Given the description of an element on the screen output the (x, y) to click on. 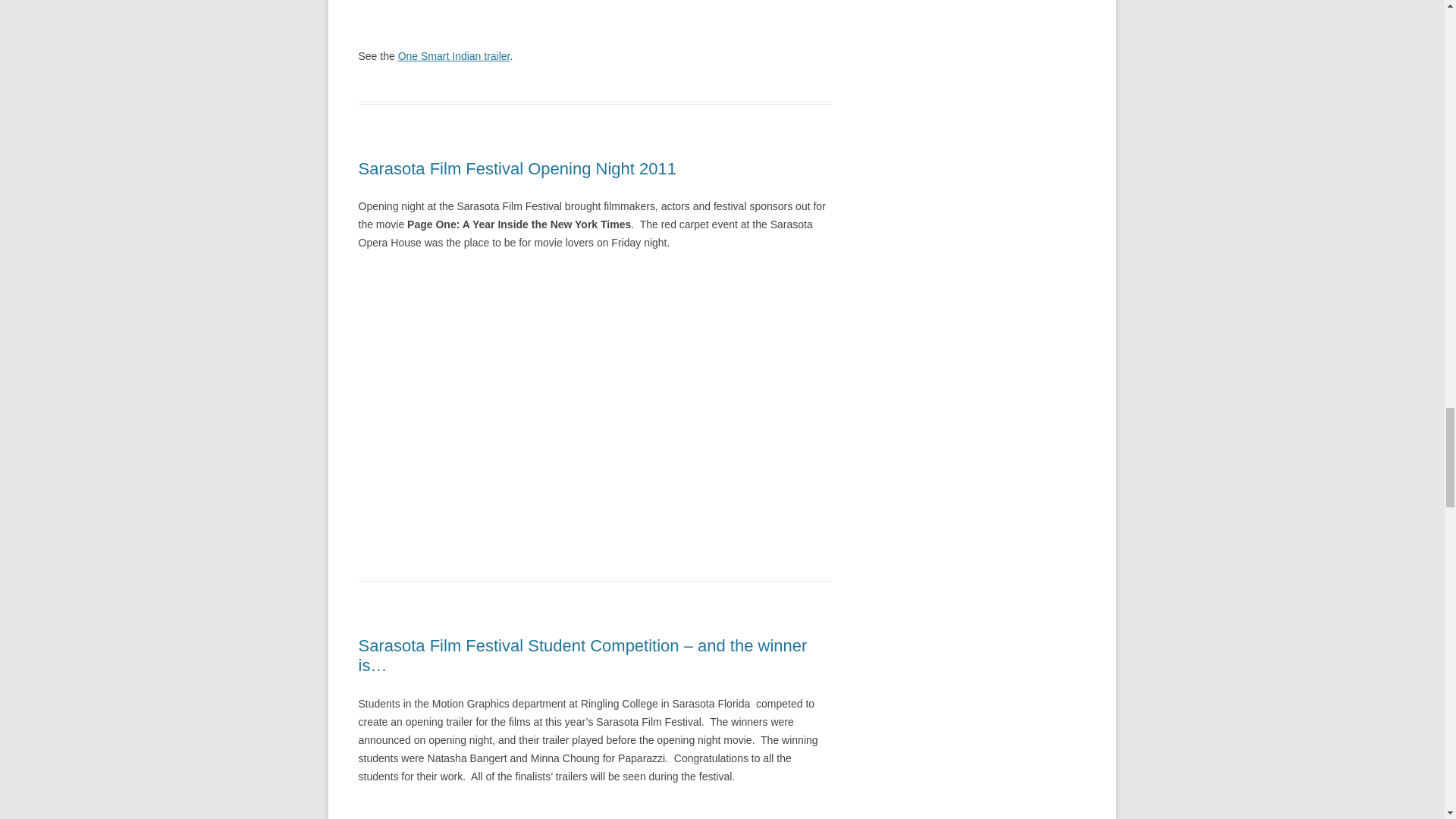
One Smart Indian trailer (454, 55)
